Given the description of an element on the screen output the (x, y) to click on. 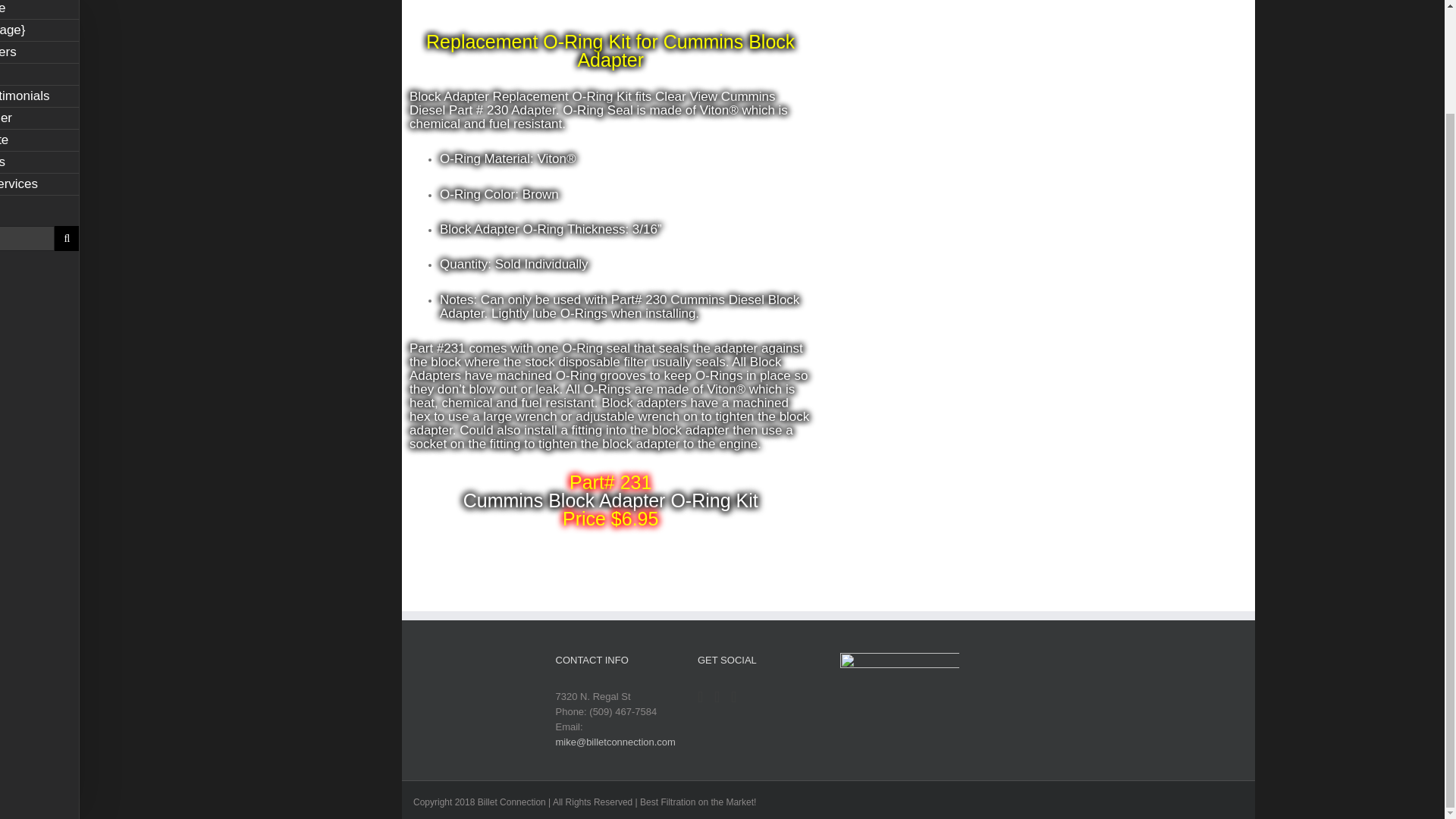
Get A Quote (40, 140)
Products and Services (40, 184)
Block Adapters (40, 52)
Contact Us (40, 162)
HomePage (40, 9)
Find A Dealer (40, 118)
